Given the description of an element on the screen output the (x, y) to click on. 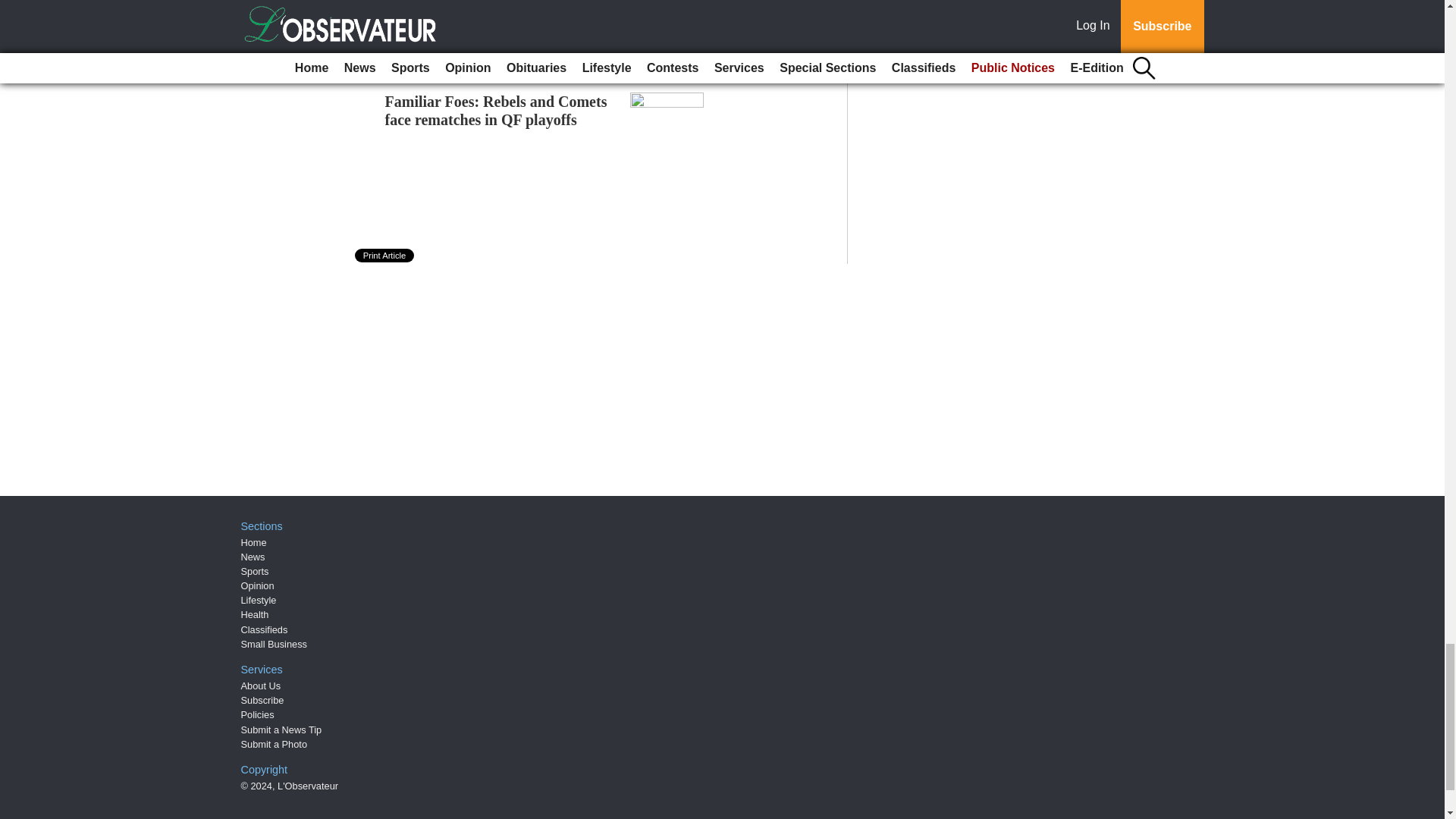
Print Article (384, 255)
